Given the description of an element on the screen output the (x, y) to click on. 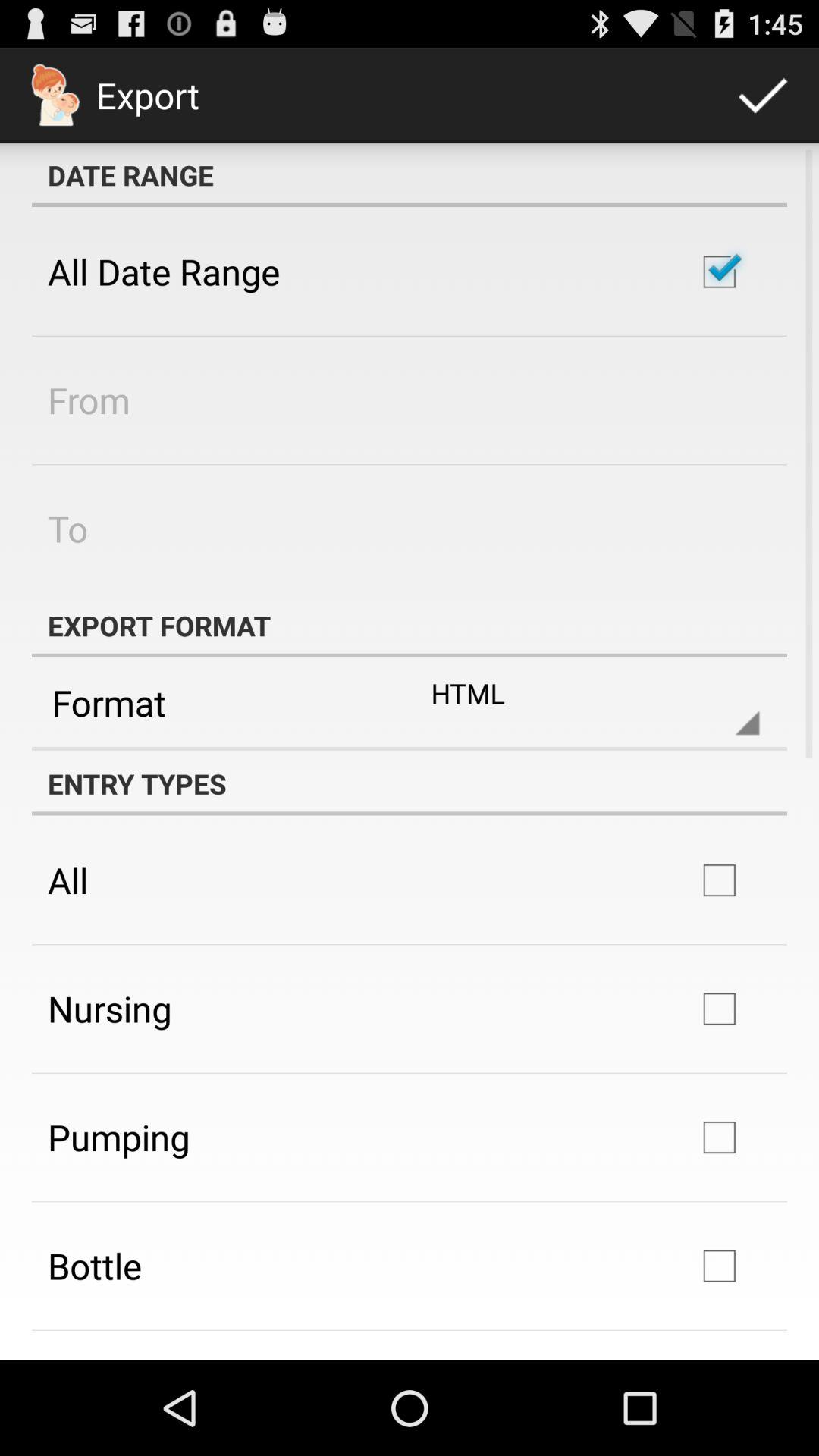
flip to pumping (118, 1137)
